Given the description of an element on the screen output the (x, y) to click on. 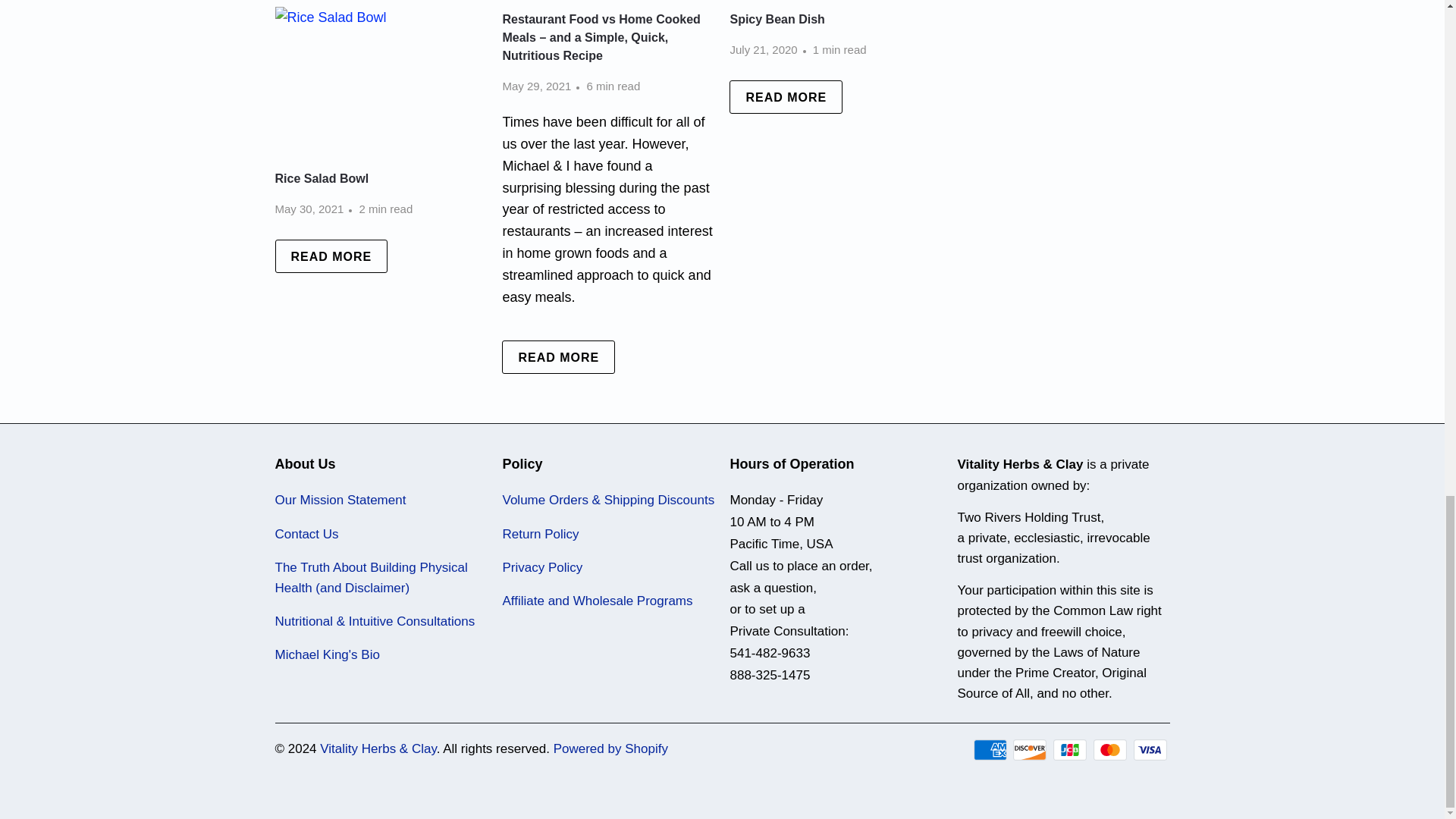
Spicy Bean Dish (786, 96)
Rice Salad Bowl (380, 86)
Spicy Bean Dish (776, 19)
Visa (1150, 749)
Rice Salad Bowl (331, 255)
Discover (1031, 749)
Mastercard (1111, 749)
American Express (992, 749)
JCB (1070, 749)
Rice Salad Bowl (321, 178)
